Given the description of an element on the screen output the (x, y) to click on. 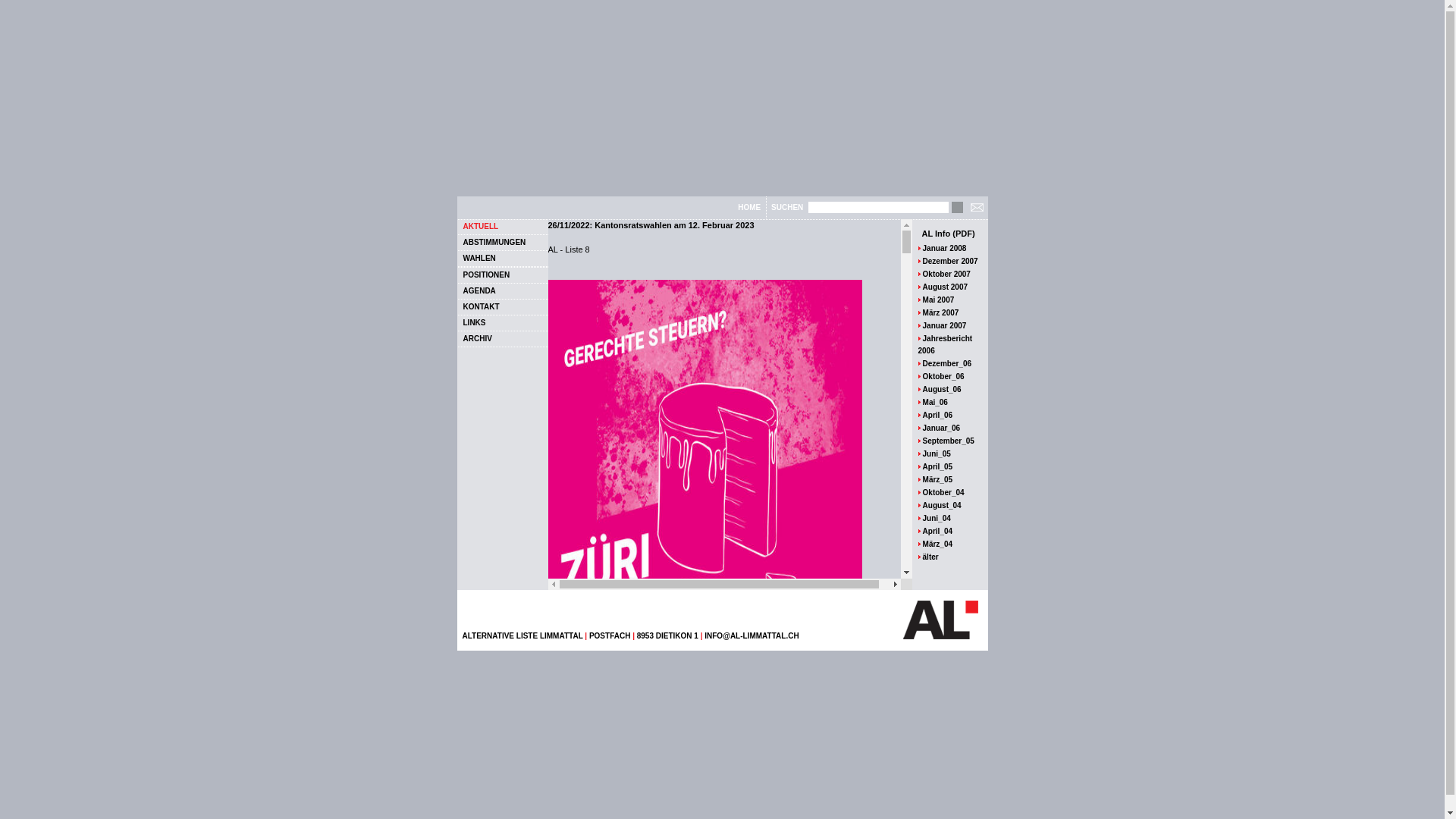
Januar_06 Element type: text (941, 427)
August 2007 Element type: text (944, 286)
LINKS Element type: text (473, 322)
April_04 Element type: text (937, 530)
Juni_05 Element type: text (936, 452)
Oktober_06 Element type: text (943, 375)
Mai 2007 Element type: text (938, 299)
Mai_06 Element type: text (934, 401)
POSITIONEN Element type: text (485, 273)
WAHLEN Element type: text (478, 257)
April_06 Element type: text (937, 415)
Jahresbericht 2006 Element type: text (944, 343)
Dezember_06 Element type: text (946, 363)
September_05 Element type: text (948, 440)
ABSTIMMUNGEN Element type: text (493, 242)
August_04 Element type: text (941, 504)
AKTUELL Element type: text (480, 225)
ARCHIV Element type: text (476, 337)
HOME Element type: text (748, 207)
Dezember Element type: text (940, 260)
KONTAKT Element type: text (480, 305)
Oktober 2007 Element type: text (946, 273)
Oktober_04 Element type: text (943, 492)
Alternative Liste Element type: hover (940, 619)
August_06 Element type: text (941, 389)
Januar 2008 Element type: text (944, 248)
2007 Element type: text (968, 260)
Januar 2007 Element type: text (944, 325)
AGENDA Element type: text (478, 290)
Juni_04 Element type: text (936, 518)
April_05 Element type: text (937, 466)
